Given the description of an element on the screen output the (x, y) to click on. 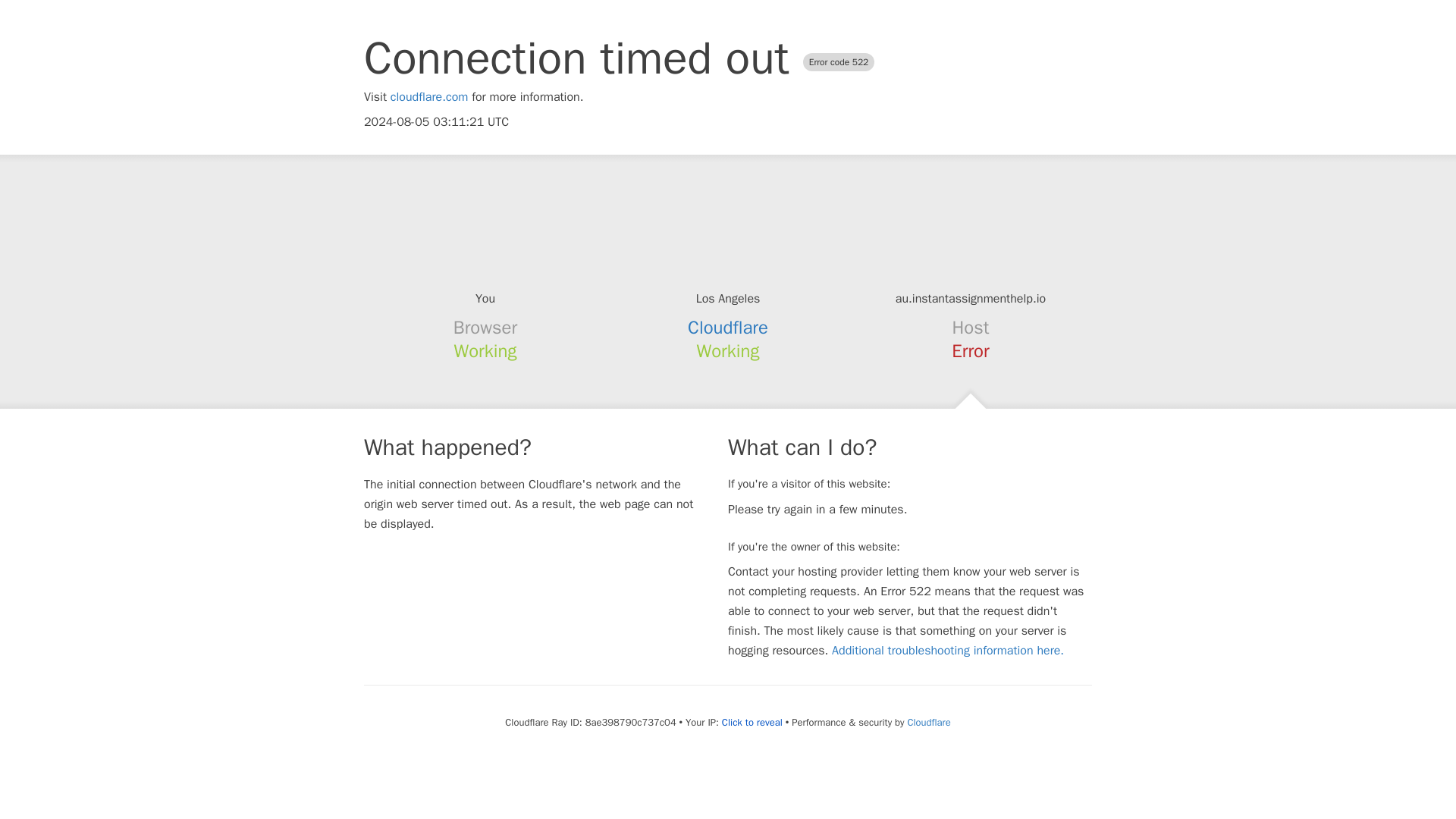
Click to reveal (752, 722)
Additional troubleshooting information here. (947, 650)
Cloudflare (928, 721)
cloudflare.com (429, 96)
Cloudflare (727, 327)
